Given the description of an element on the screen output the (x, y) to click on. 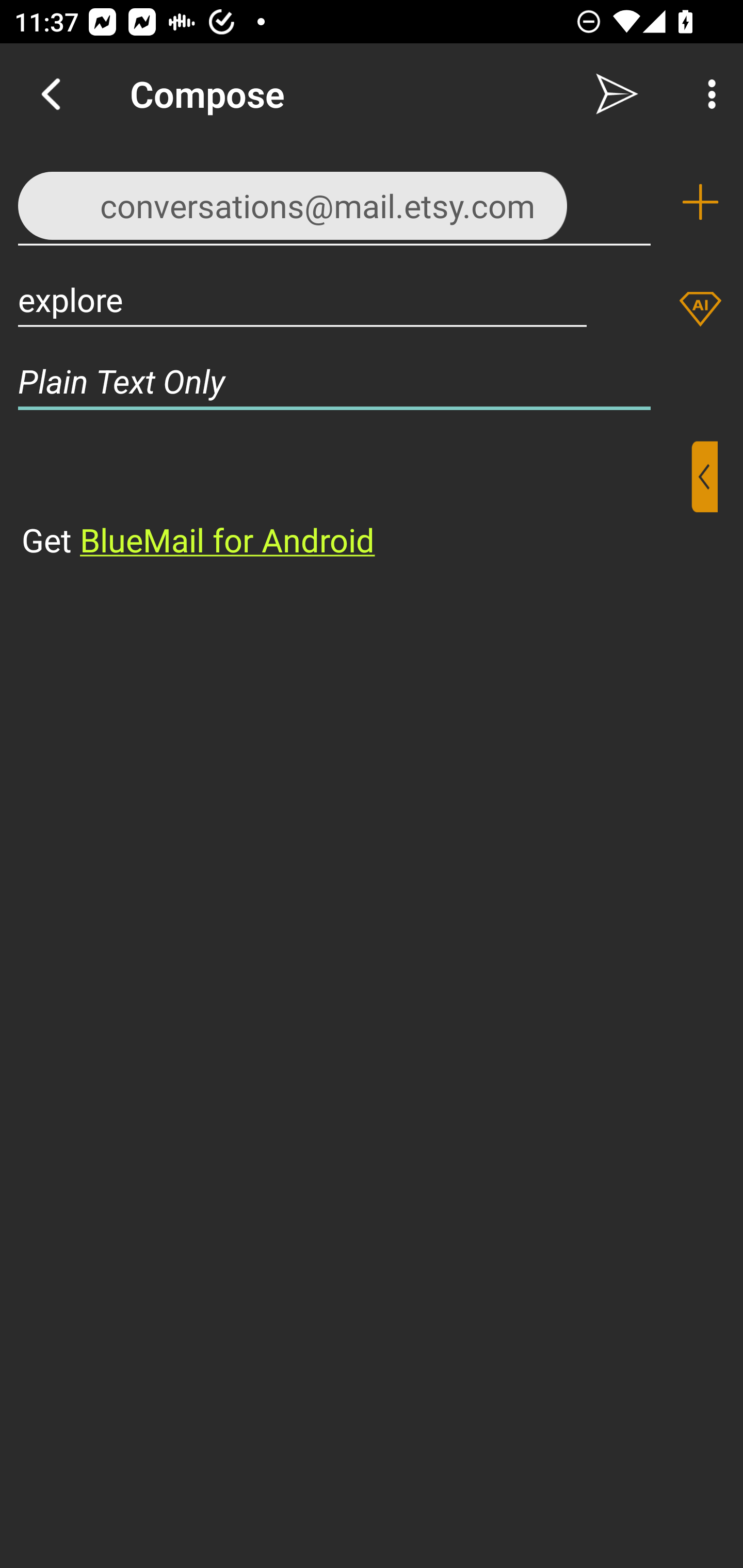
Navigate up (50, 93)
Send (616, 93)
More Options (706, 93)
<conversations@mail.etsy.com>,  (334, 201)
Add recipient (To) (699, 201)
explore (302, 299)
Plain Text Only (371, 380)


⁣Get BlueMail for Android ​ (355, 501)
